Given the description of an element on the screen output the (x, y) to click on. 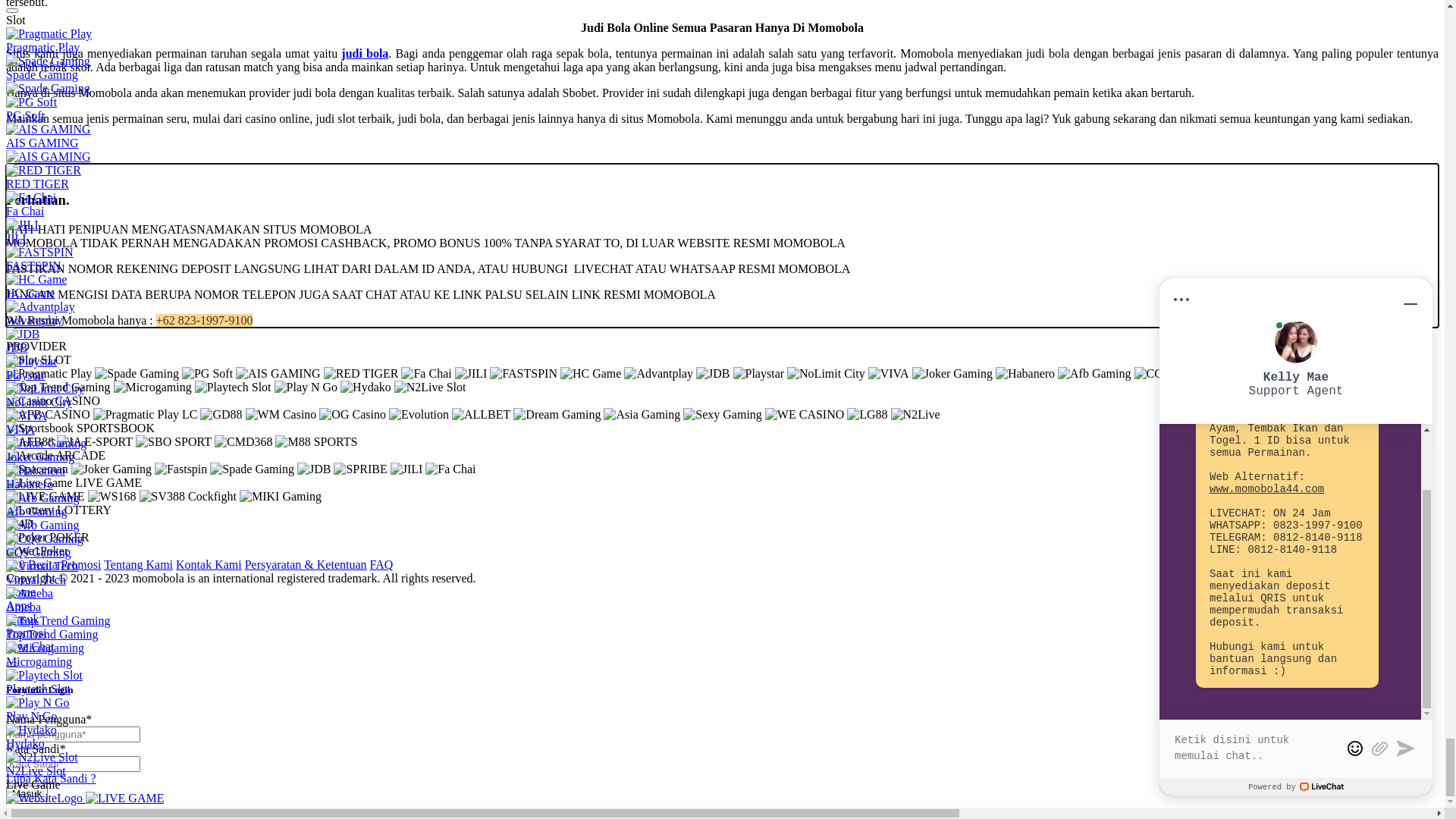
Phone Element type: text (151, 25)
Lupa Password? Element type: text (45, 407)
Chinese Element type: text (722, 203)
English Element type: text (722, 135)
Indonesia Element type: text (722, 149)
Viet Element type: text (722, 176)
Tagalog Element type: text (722, 217)
Daftar Element type: text (21, 260)
Home Element type: text (737, 433)
Website Element type: text (186, 25)
Telegram Element type: text (109, 25)
WhatsApp Element type: text (33, 25)
Berita Element type: text (737, 474)
Khmer Element type: text (722, 190)
Indonesia Element type: text (722, 609)
Daftar Element type: text (70, 393)
Promosi Element type: text (737, 447)
Daftar Element type: text (21, 300)
English Element type: text (722, 595)
Thailand Element type: text (722, 162)
Kontak Kami Element type: text (737, 515)
Khmer Element type: text (722, 650)
Masuk Element type: text (301, 246)
Tagalog Element type: text (722, 677)
IDR Rupiah Element type: text (722, 568)
Masuk Element type: text (26, 393)
Lupa Kata Sandi ? Element type: text (51, 273)
Bantuan Element type: text (737, 501)
Chinese Element type: text (722, 664)
Informasi Keluaran Element type: text (737, 488)
Line Element type: text (72, 25)
Viet Element type: text (722, 636)
Thailand Element type: text (722, 623)
Event Element type: text (737, 529)
Download Aplikasi Element type: text (737, 460)
